Given the description of an element on the screen output the (x, y) to click on. 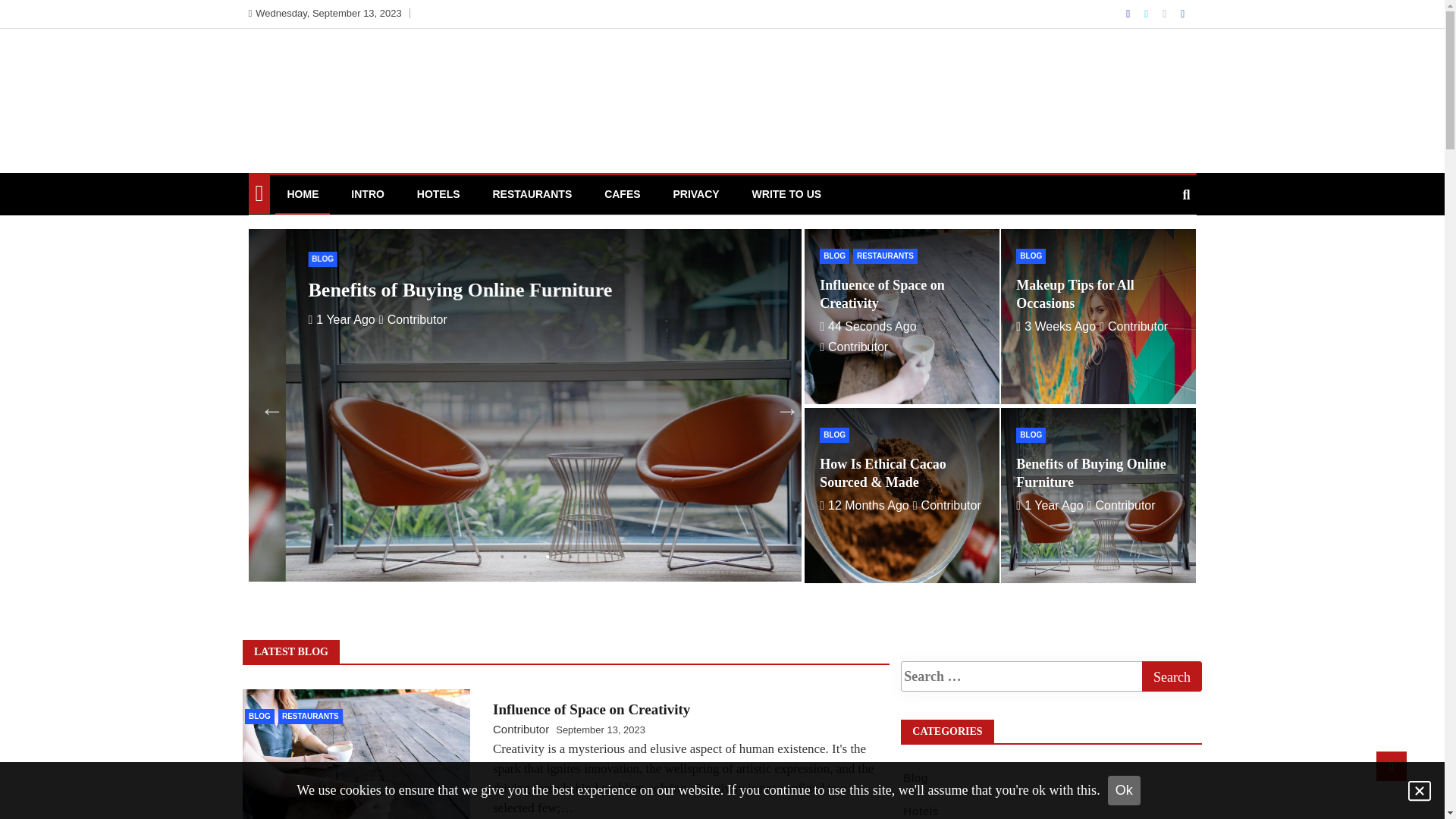
RESTAURANTS Element type: text (531, 194)
BLOG Element type: text (1030, 255)
Makeup Tips for All Occasions Element type: text (1075, 293)
WRITE TO US Element type: text (786, 194)
Previous Element type: text (266, 405)
4 Element type: text (547, 556)
Contributor Element type: text (1133, 326)
Linkdin Element type: hover (1182, 13)
Blog Element type: text (915, 777)
CAFES Element type: text (622, 194)
HOTELS Element type: text (438, 194)
Influence of Space on Creativity Element type: text (881, 293)
INTRO Element type: text (367, 194)
BLOG Element type: text (834, 434)
1 Element type: text (478, 556)
PRIVACY Element type: text (695, 194)
Makeup Tips for All Occasions Element type: text (400, 290)
12 Months Ago Element type: text (864, 504)
RESTAURANTS Element type: text (885, 255)
44 Seconds Ago Element type: text (867, 326)
Influence of Space on Creativity Element type: text (591, 709)
3 Weeks Ago Element type: text (1055, 326)
Search Element type: text (1171, 676)
5 Element type: text (569, 556)
3 Element type: text (524, 556)
Twitter Element type: hover (1147, 13)
BLOG Element type: text (834, 255)
Instagram Element type: hover (1165, 13)
HOME Element type: text (302, 194)
Benefits of Buying Online Furniture Element type: text (1091, 472)
Hotels Element type: text (920, 810)
Contributor Element type: text (520, 728)
RESTAURANTS Element type: text (310, 716)
Facebook Element type: hover (1129, 13)
2 Element type: text (501, 556)
Next Element type: text (782, 405)
Contributor Element type: text (1121, 504)
3 Weeks Ago Element type: text (311, 319)
Contributor Element type: text (853, 346)
BLOG Element type: text (1030, 434)
Contributor Element type: text (388, 319)
Contributor Element type: text (947, 504)
How Is Ethical Cacao Sourced & Made Element type: text (882, 472)
BLOG Element type: text (286, 258)
BLOG Element type: text (259, 716)
1 Year Ago Element type: text (1049, 504)
Ok Element type: text (1123, 790)
Restaurant/Hotel Reviews Element type: text (349, 86)
